Given the description of an element on the screen output the (x, y) to click on. 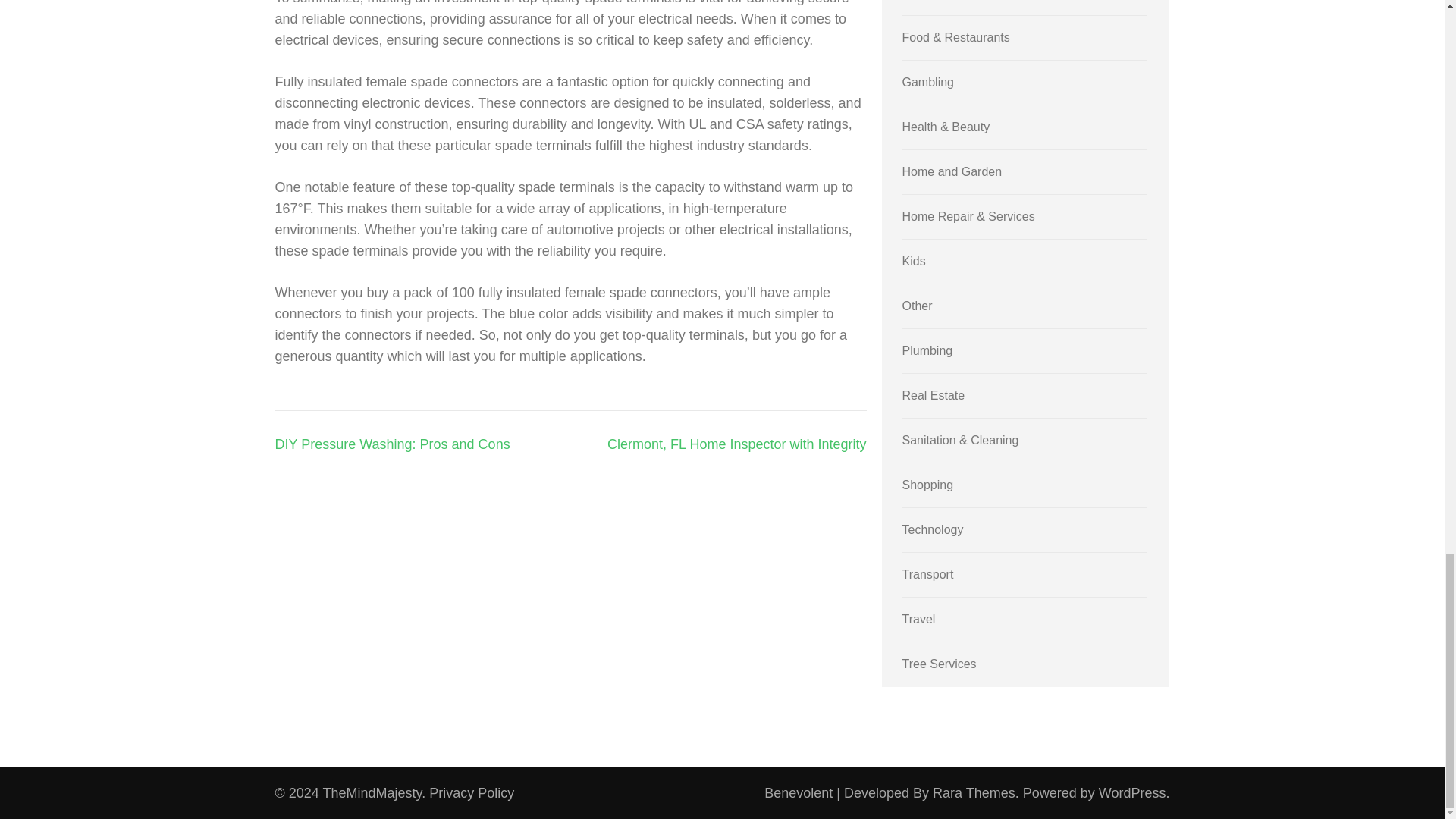
DIY Pressure Washing: Pros and Cons (392, 444)
Clermont, FL Home Inspector with Integrity (736, 444)
